Given the description of an element on the screen output the (x, y) to click on. 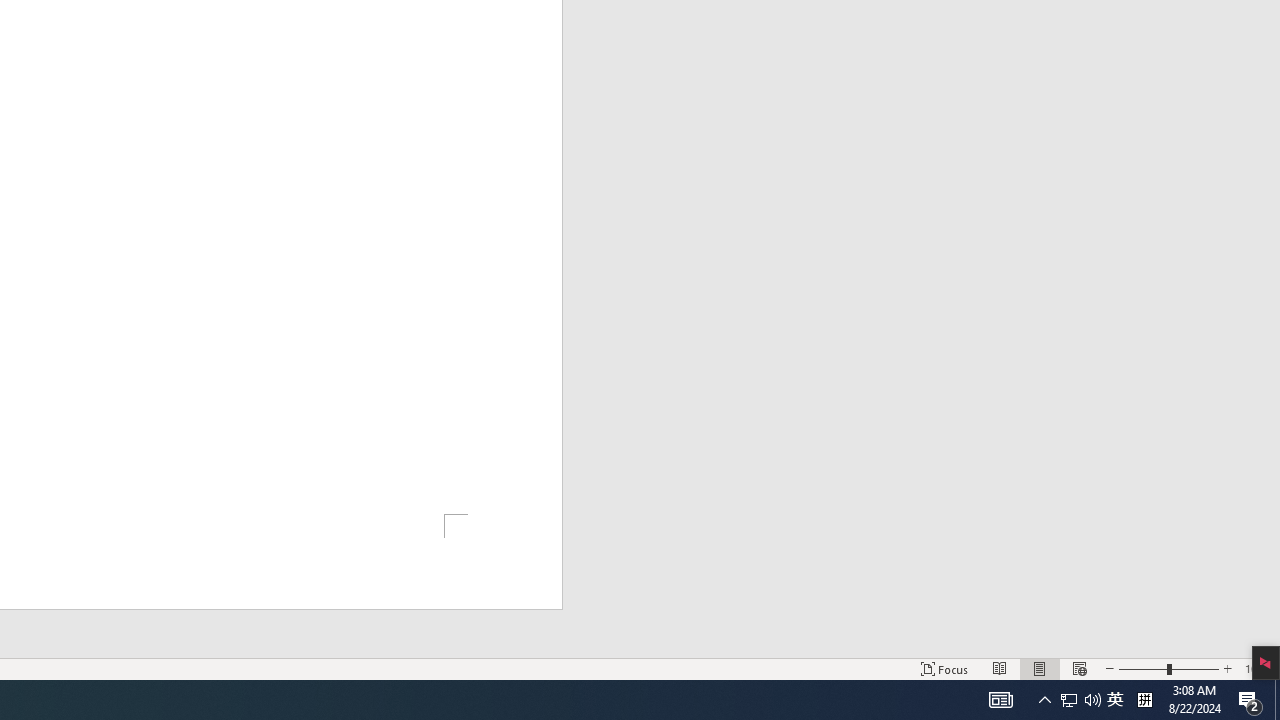
Zoom 100% (1258, 668)
